Given the description of an element on the screen output the (x, y) to click on. 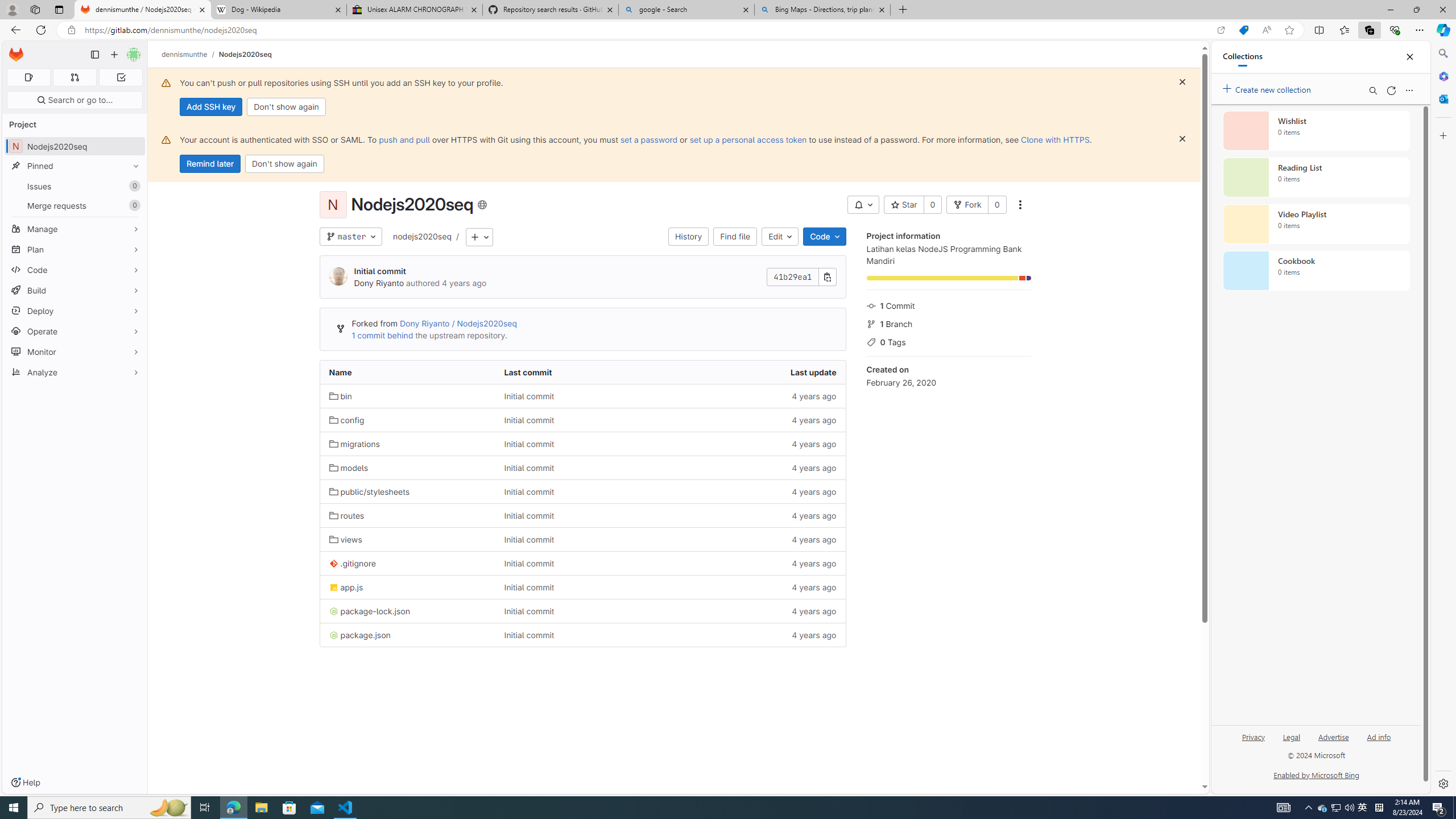
Class: s16 icon (482, 204)
set up a personal access token (747, 139)
NNodejs2020seq (74, 145)
Close (1409, 56)
Copilot (Ctrl+Shift+.) (1442, 29)
Collections (1242, 56)
config (407, 419)
History (688, 236)
Monitor (74, 351)
Unpin Merge requests (132, 205)
push and pull (403, 139)
routes (407, 515)
Plan (74, 248)
Initial commit (528, 634)
nodejs2020seq (422, 235)
